Given the description of an element on the screen output the (x, y) to click on. 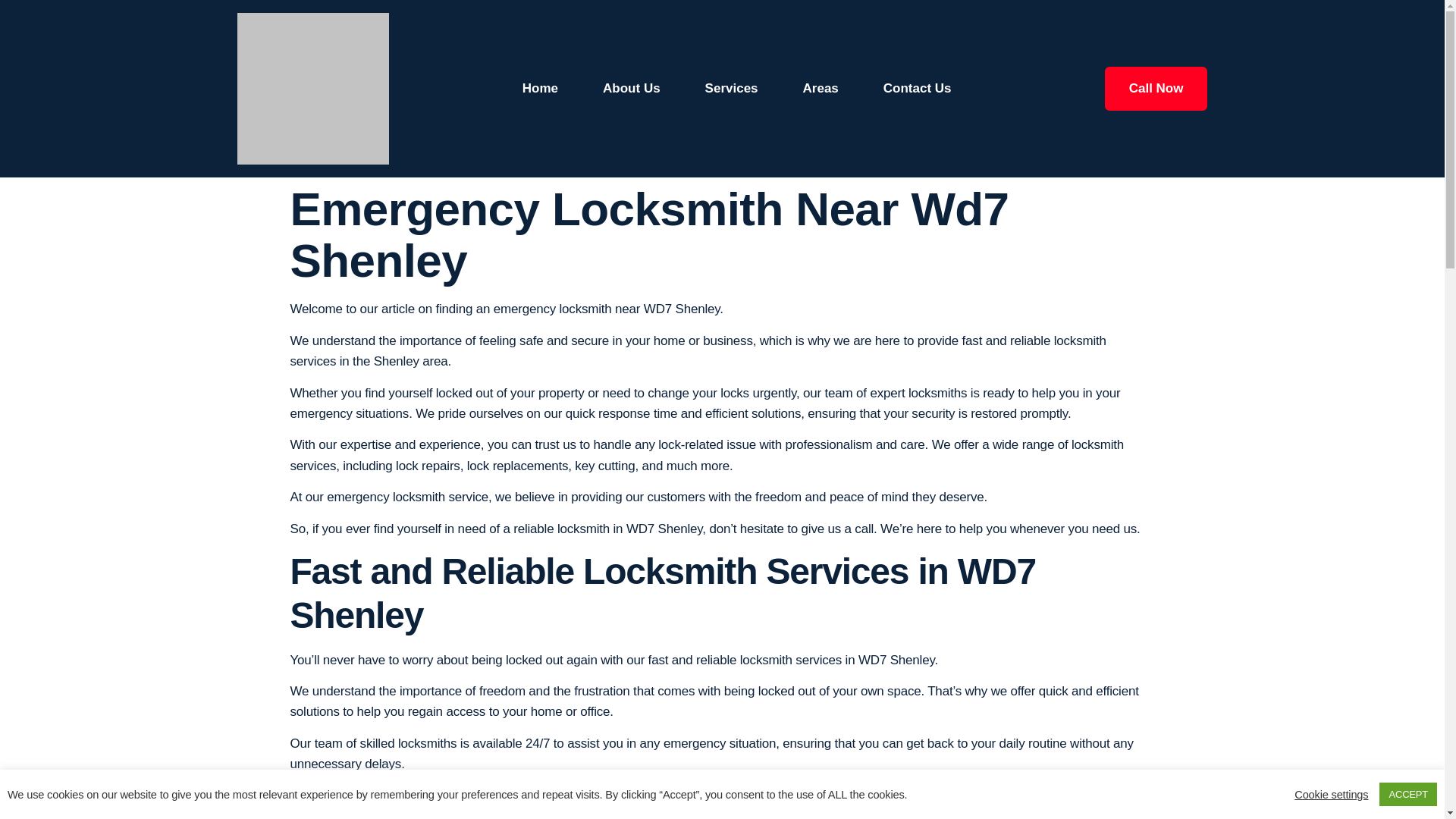
About Us (631, 88)
Services (731, 88)
Areas (821, 88)
Home (540, 88)
